Given the description of an element on the screen output the (x, y) to click on. 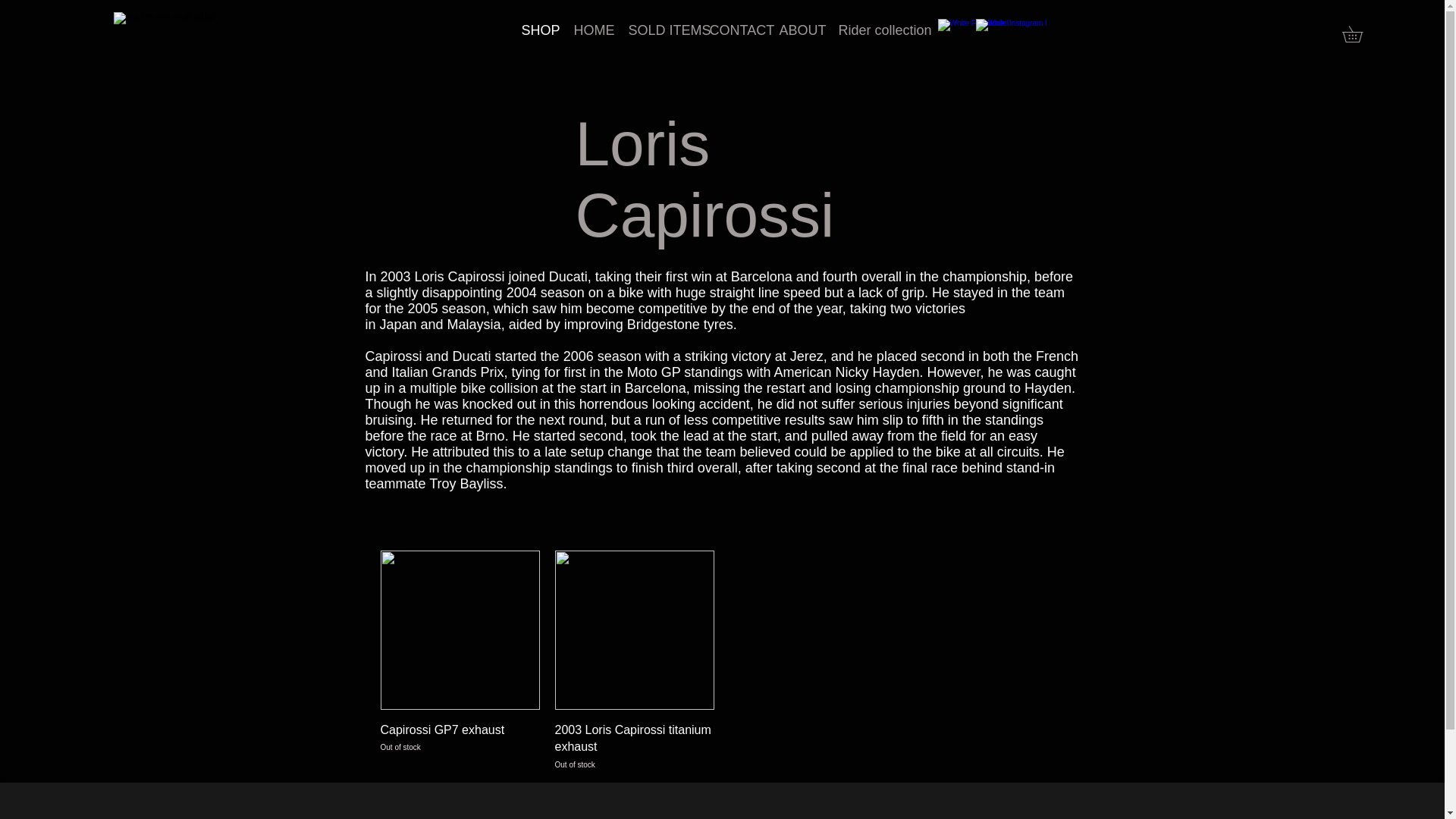
Jerez (807, 355)
Brno (490, 435)
ABOUT (797, 30)
Rider collection (875, 30)
Barcelona (654, 387)
Malaysia (473, 324)
2004 season (545, 292)
SOLD ITEMS (657, 30)
CONTACT (732, 30)
2005 season (446, 308)
